Given the description of an element on the screen output the (x, y) to click on. 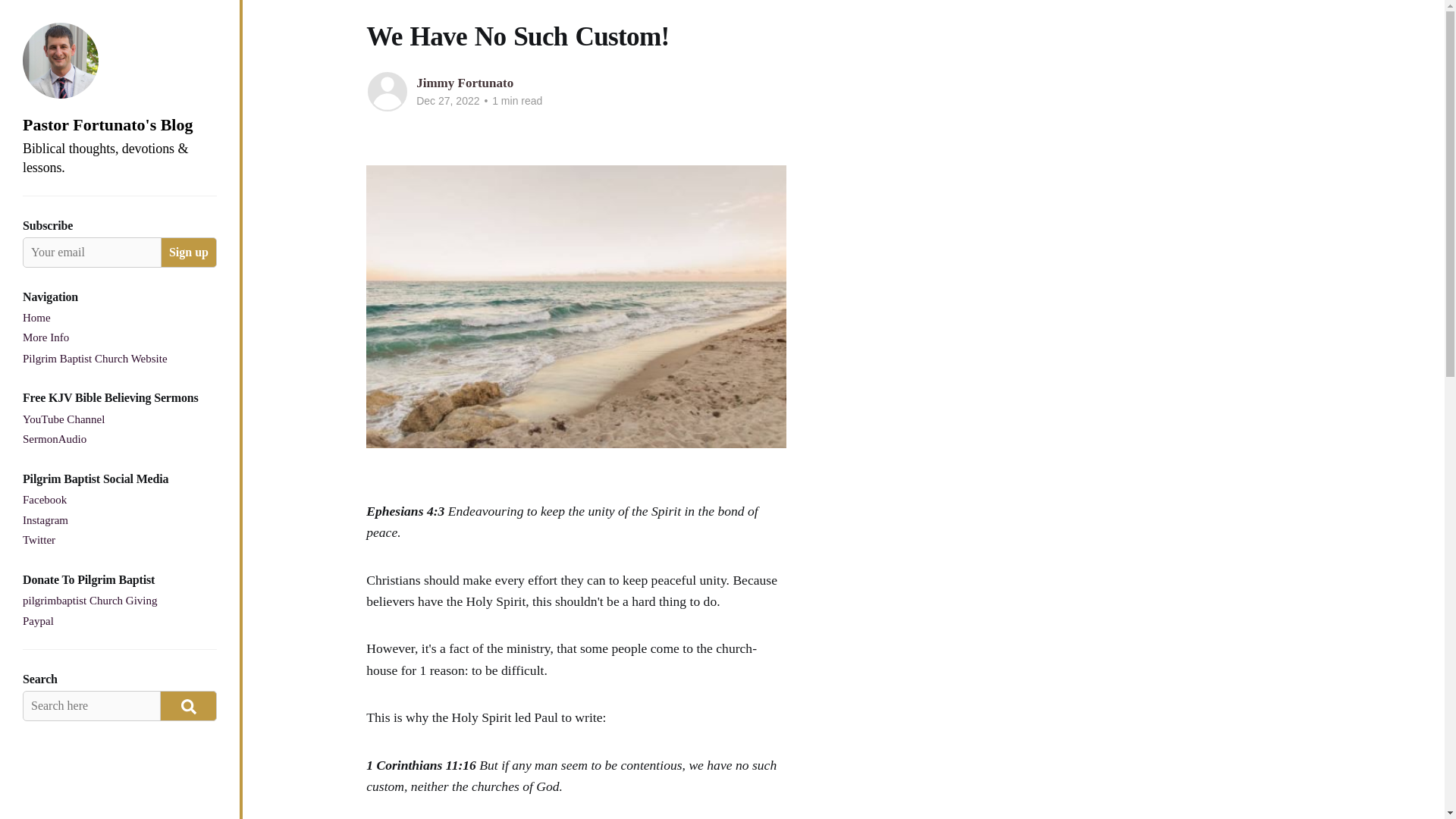
Facebook (44, 500)
SermonAudio (54, 439)
Paypal (38, 621)
Jimmy Fortunato (464, 83)
Home (36, 318)
YouTube Channel (63, 419)
Twitter (39, 540)
Instagram (45, 520)
Sign up (188, 252)
pilgrimbaptist Church Giving (90, 600)
